Given the description of an element on the screen output the (x, y) to click on. 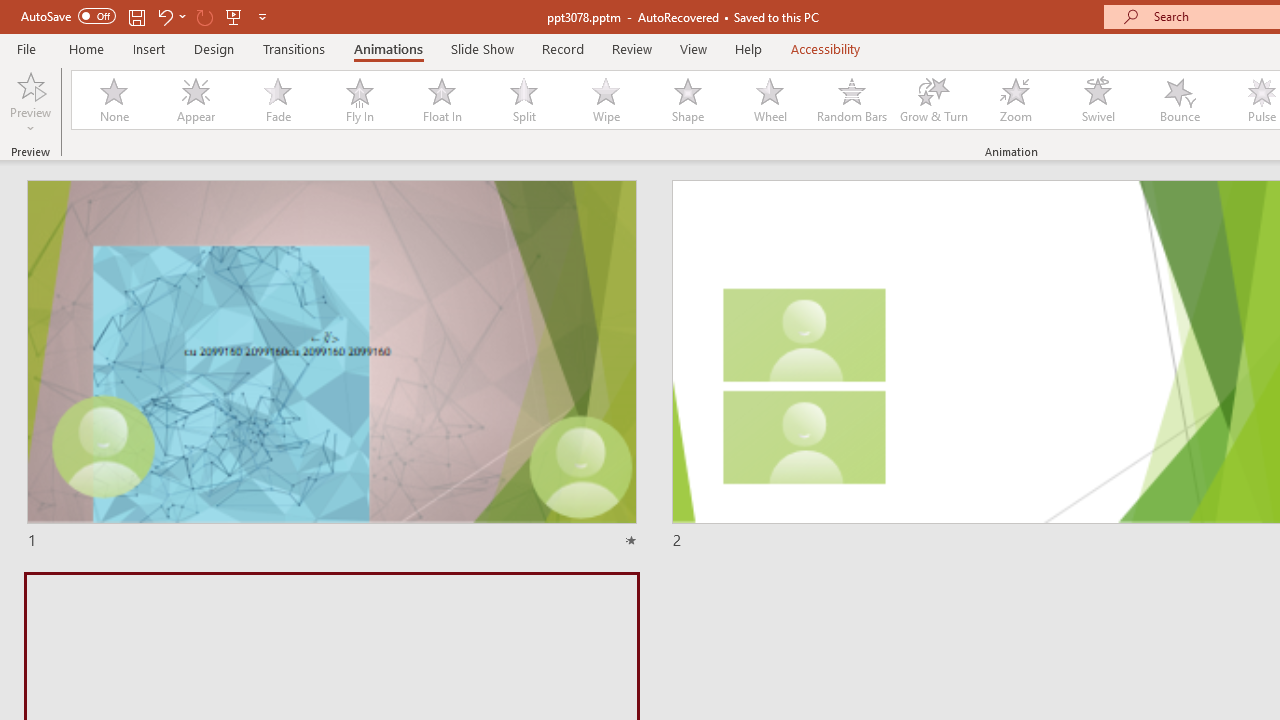
Grow & Turn (934, 100)
Bounce (1180, 100)
Swivel (1098, 100)
Wheel (770, 100)
Split (523, 100)
